Given the description of an element on the screen output the (x, y) to click on. 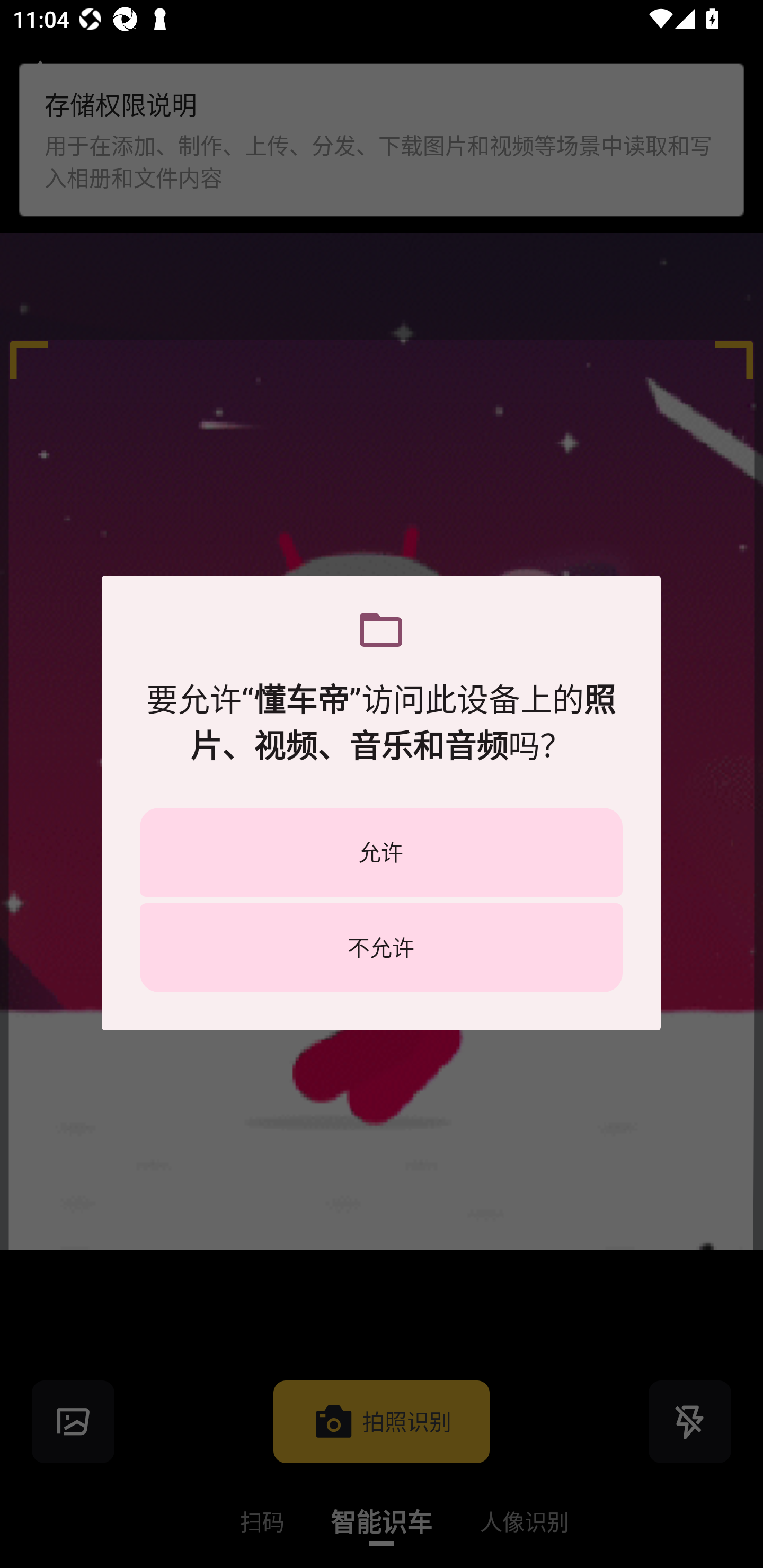
允许 (380, 851)
不允许 (380, 947)
